Given the description of an element on the screen output the (x, y) to click on. 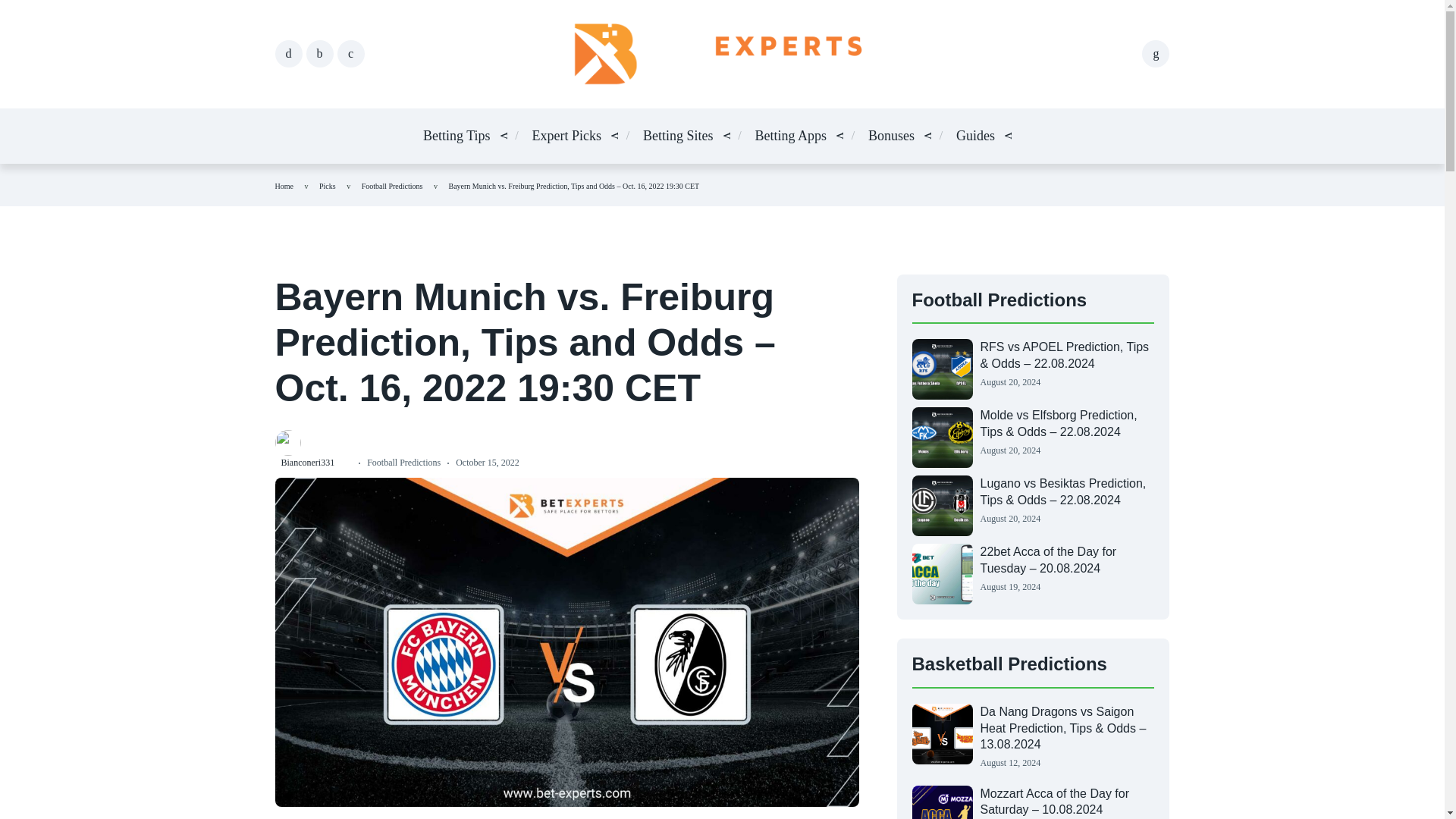
Football Predictions (392, 185)
Betting Tips (456, 136)
Picks (327, 185)
Home (283, 185)
Betting Sites (678, 136)
Expert Picks (567, 136)
